Given the description of an element on the screen output the (x, y) to click on. 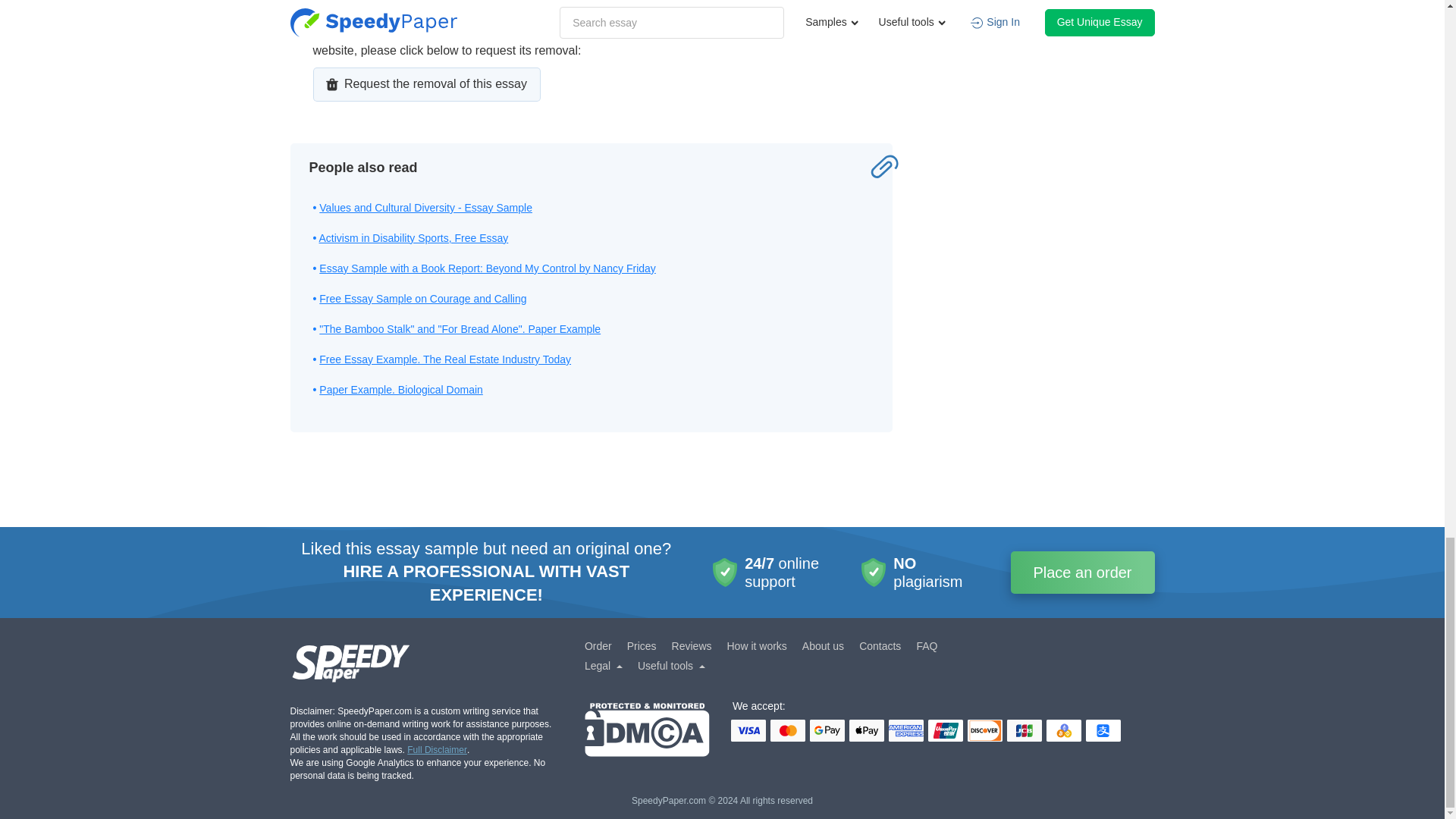
googlepay (826, 730)
mastercard (787, 730)
DMCA.com Protection Status (647, 729)
jcb (1024, 730)
discover (985, 730)
visa (747, 730)
cryptocurrency (1063, 730)
amex (905, 730)
payment-method (1103, 730)
apple-pay (865, 730)
